Given the description of an element on the screen output the (x, y) to click on. 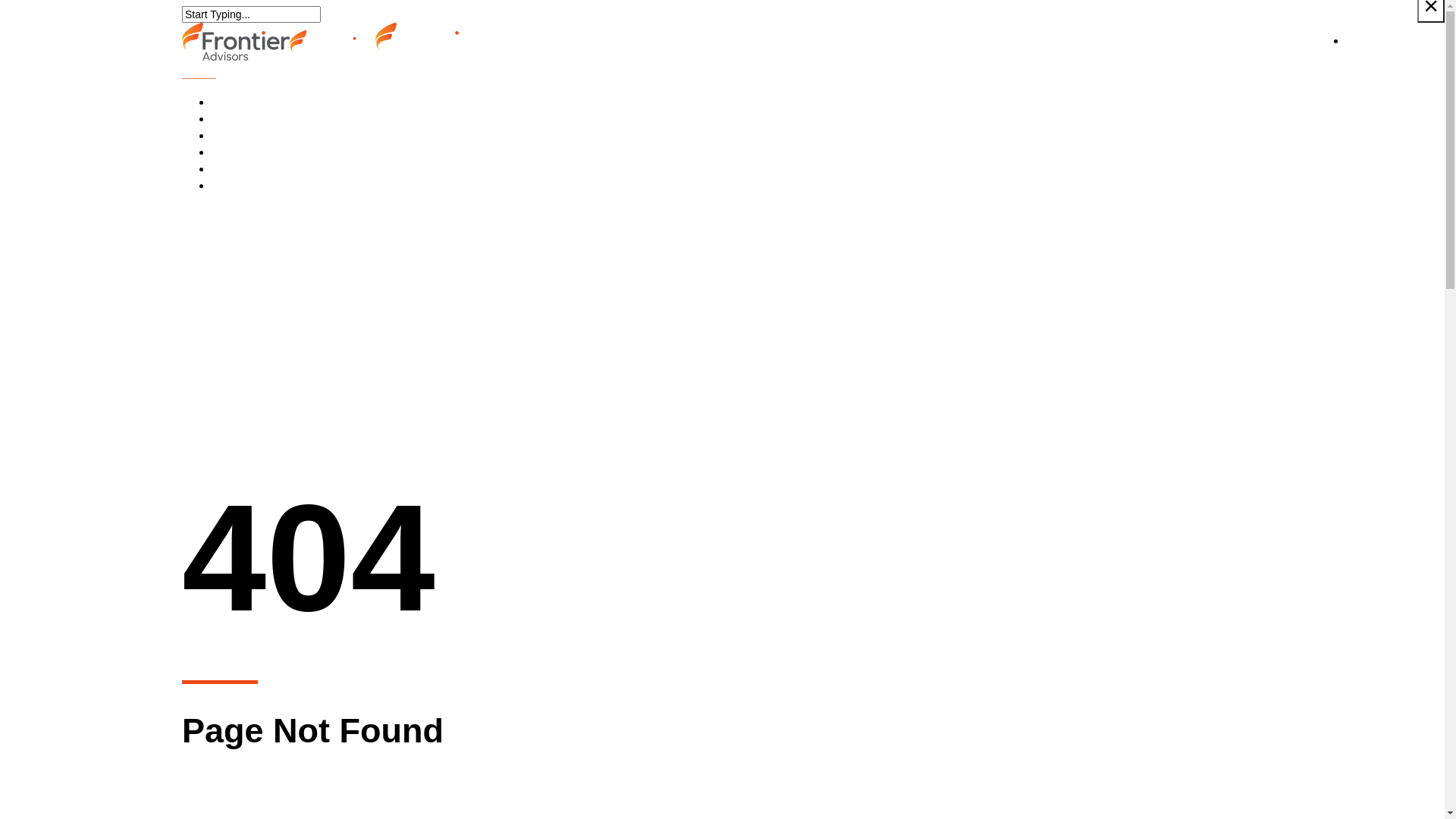
Clients Element type: text (248, 118)
Insights Element type: text (250, 152)
People Element type: text (248, 135)
Log in Element type: text (1395, 40)
Menu Element type: text (199, 72)
About Element type: text (245, 185)
Technology Element type: text (261, 168)
Services Element type: text (253, 101)
